Given the description of an element on the screen output the (x, y) to click on. 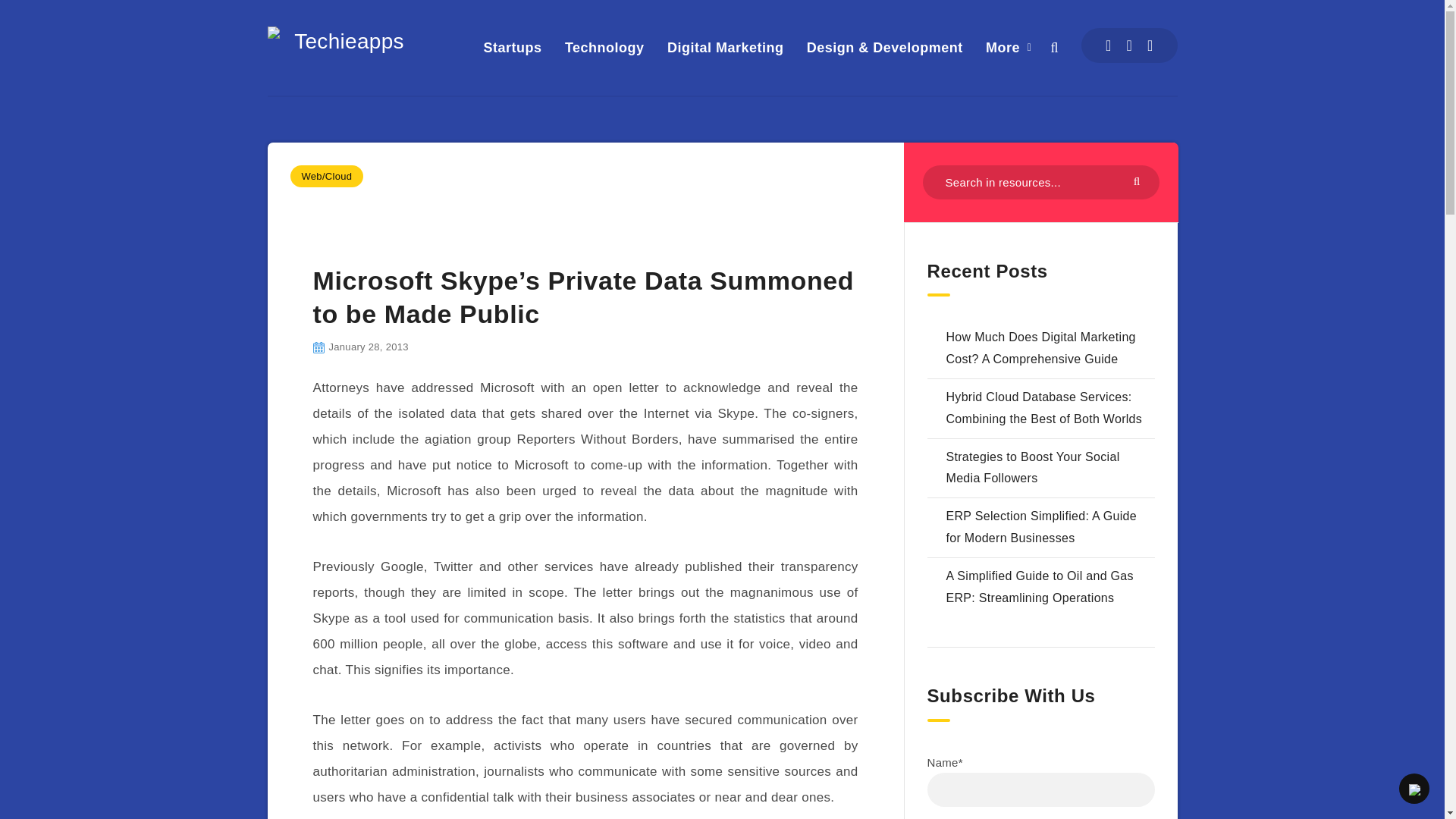
More (1002, 47)
Digital Marketing (725, 47)
Strategies to Boost Your Social Media Followers (1032, 467)
Startups (512, 47)
Technology (604, 47)
How Much Does Digital Marketing Cost? A Comprehensive Guide (1040, 347)
ERP Selection Simplified: A Guide for Modern Businesses (1041, 526)
